Given the description of an element on the screen output the (x, y) to click on. 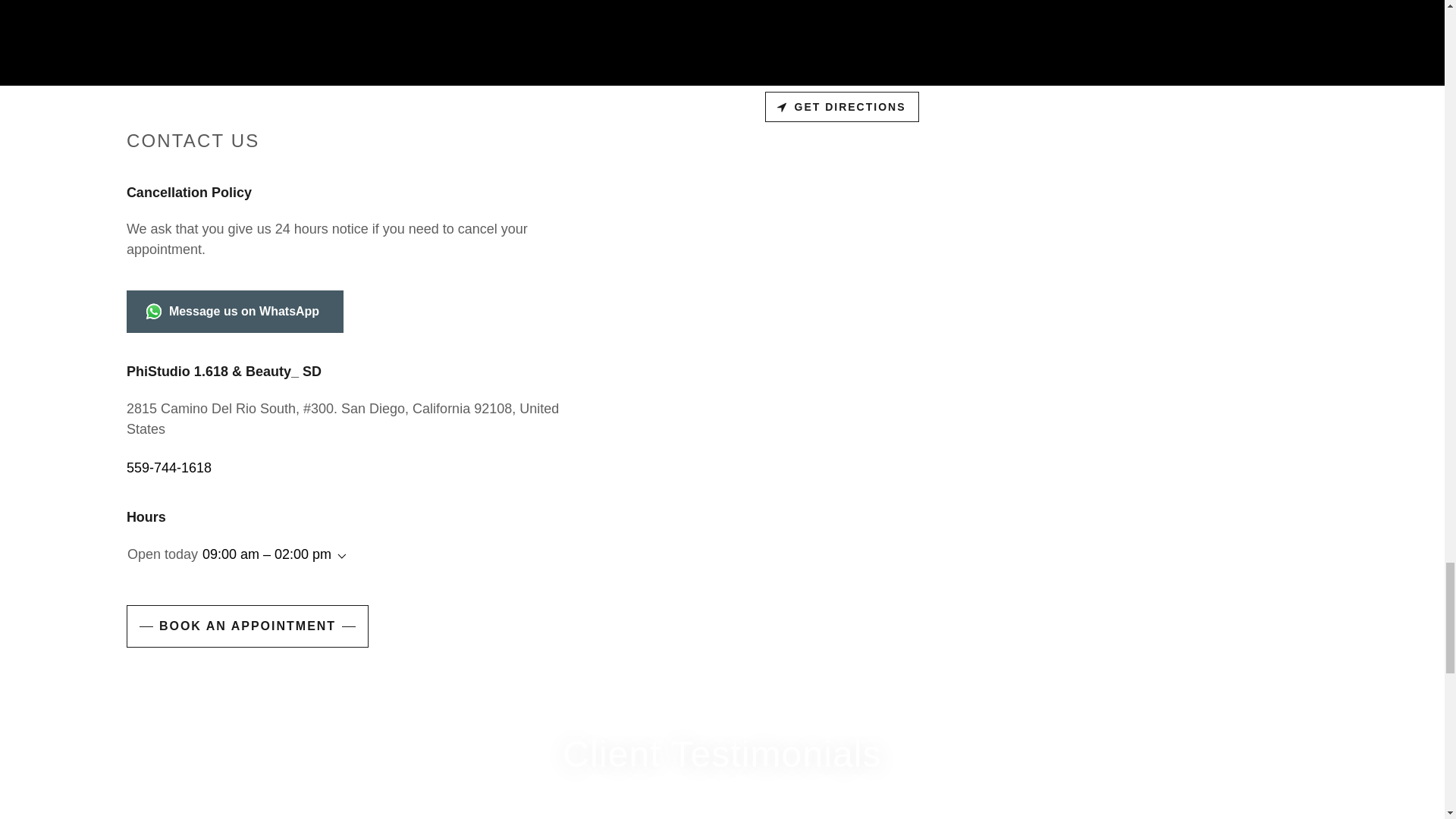
Message us on WhatsApp (234, 311)
559-744-1618 (168, 467)
BOOK AN APPOINTMENT (247, 626)
GET DIRECTIONS (841, 106)
